Given the description of an element on the screen output the (x, y) to click on. 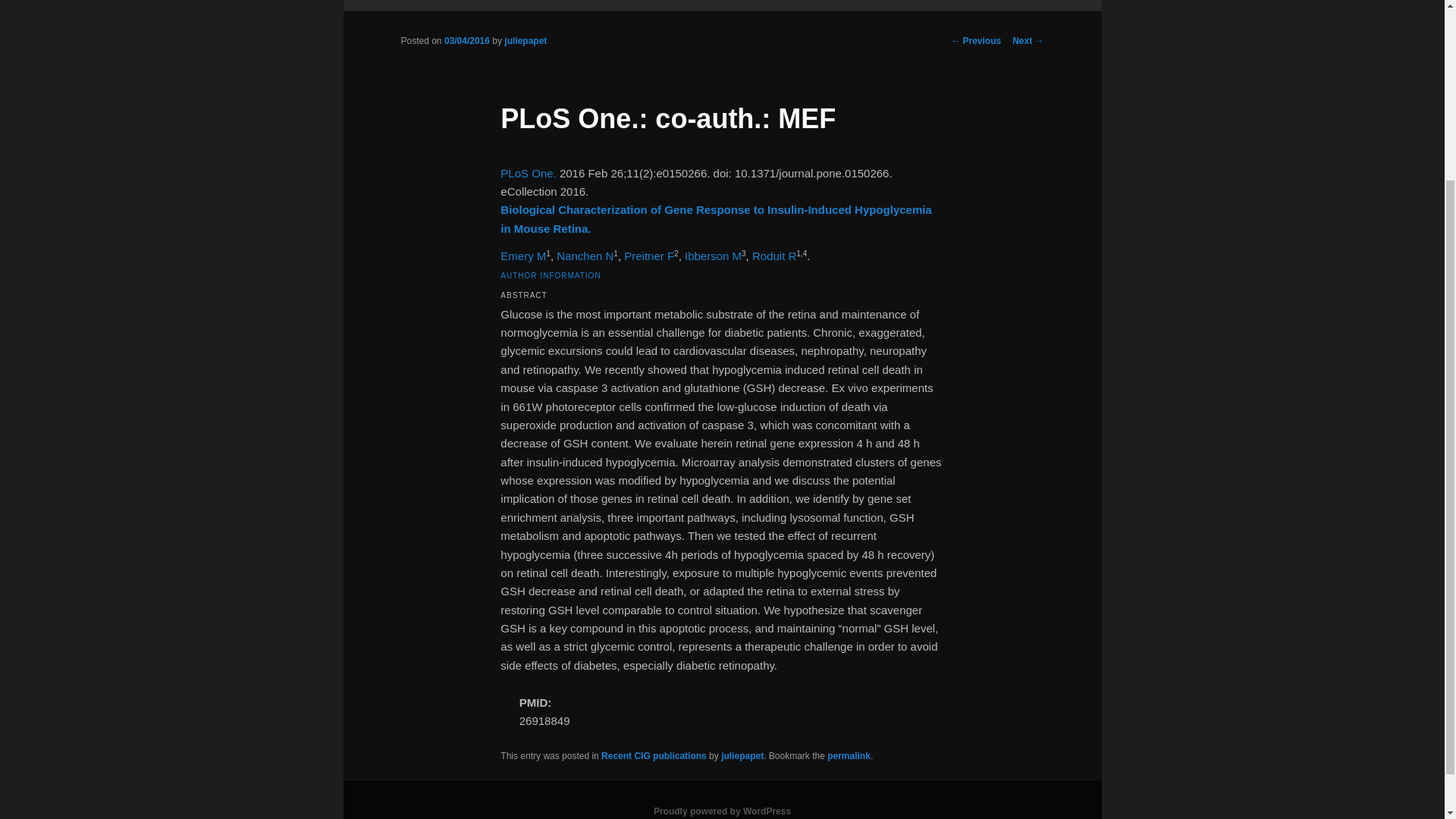
Roduit R (774, 255)
View all posts by juliepapet (525, 40)
Permalink to PLoS One.: co-auth.: MEF (848, 756)
Ibberson M (712, 255)
08:41 (466, 40)
juliepapet (741, 756)
PLoS One. (528, 173)
PloS one. (528, 173)
Recent CIG publications (653, 756)
Emery M (523, 255)
Sustainability (433, 5)
juliepapet (525, 40)
Semantic Personal Publishing Platform (721, 810)
AUTHOR INFORMATION (549, 275)
Nanchen N (584, 255)
